Given the description of an element on the screen output the (x, y) to click on. 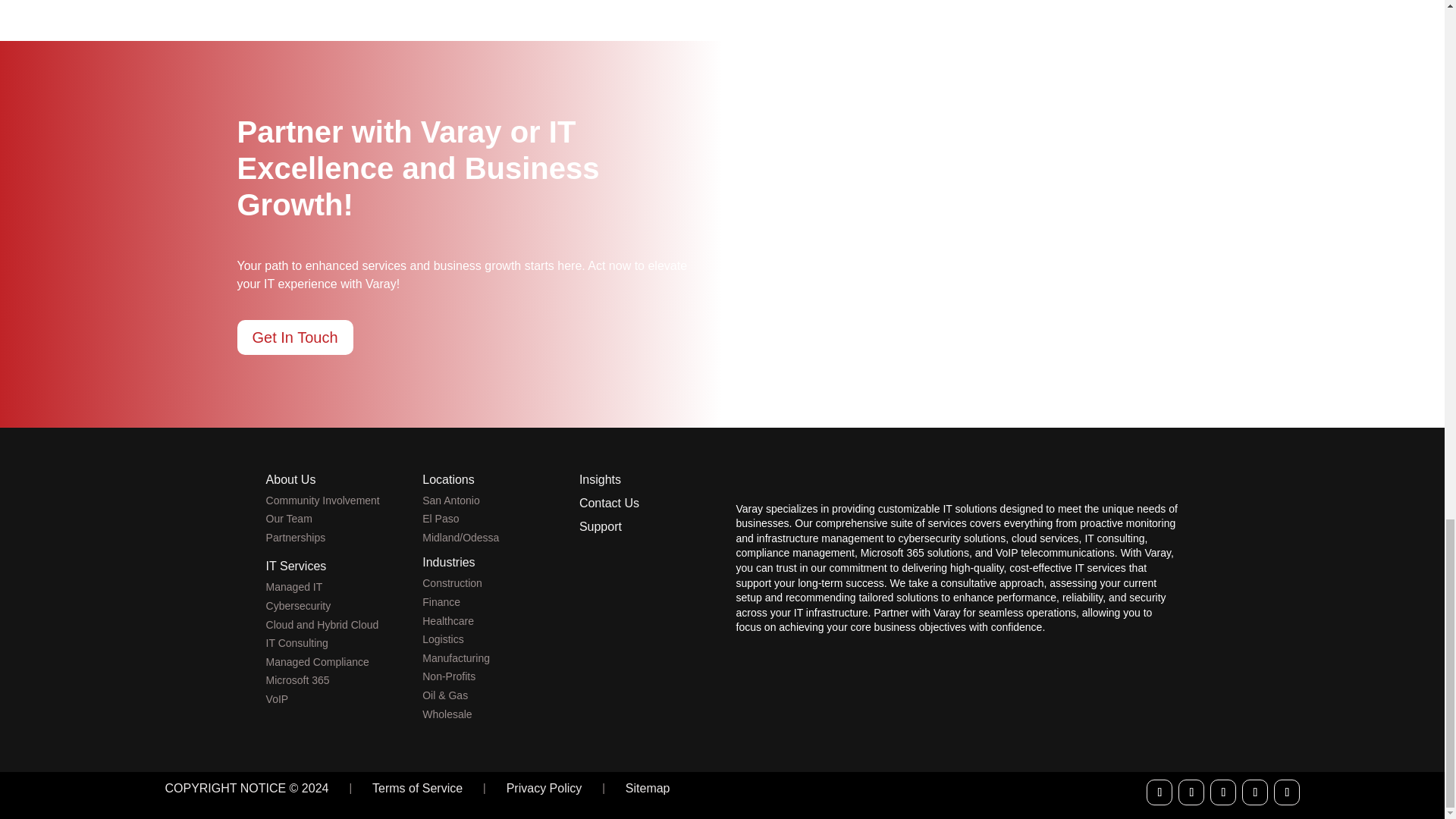
Follow on Youtube (1254, 792)
Follow on Instagram (1287, 792)
Follow on Facebook (1159, 792)
Follow on X (1190, 792)
Follow on LinkedIn (1222, 792)
